Given the description of an element on the screen output the (x, y) to click on. 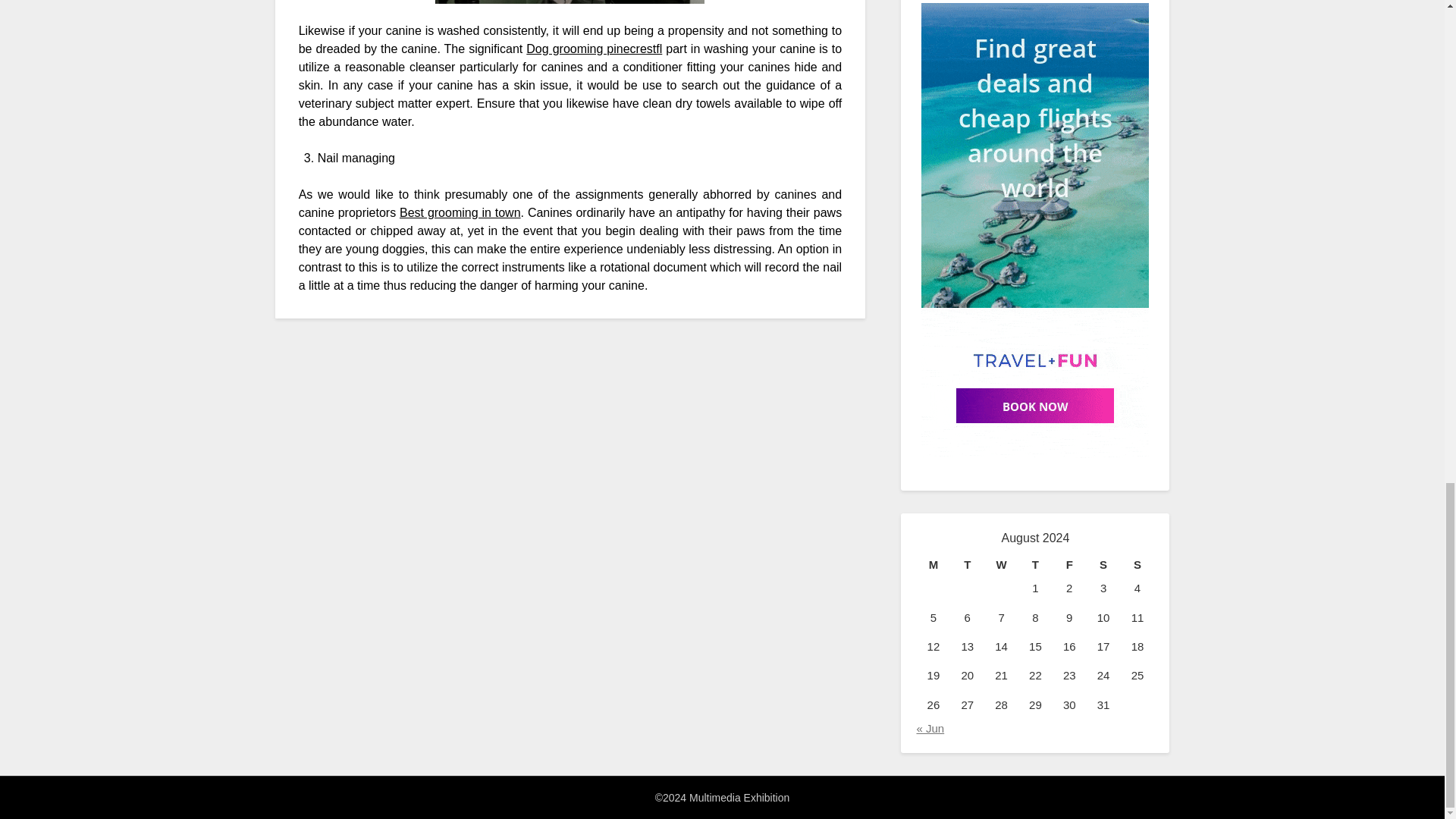
Wednesday (1000, 565)
Saturday (1103, 565)
Thursday (1034, 565)
Best grooming in town (459, 212)
Dog grooming pinecrestfl (593, 48)
Tuesday (967, 565)
Friday (1069, 565)
Sunday (1137, 565)
Monday (932, 565)
